Given the description of an element on the screen output the (x, y) to click on. 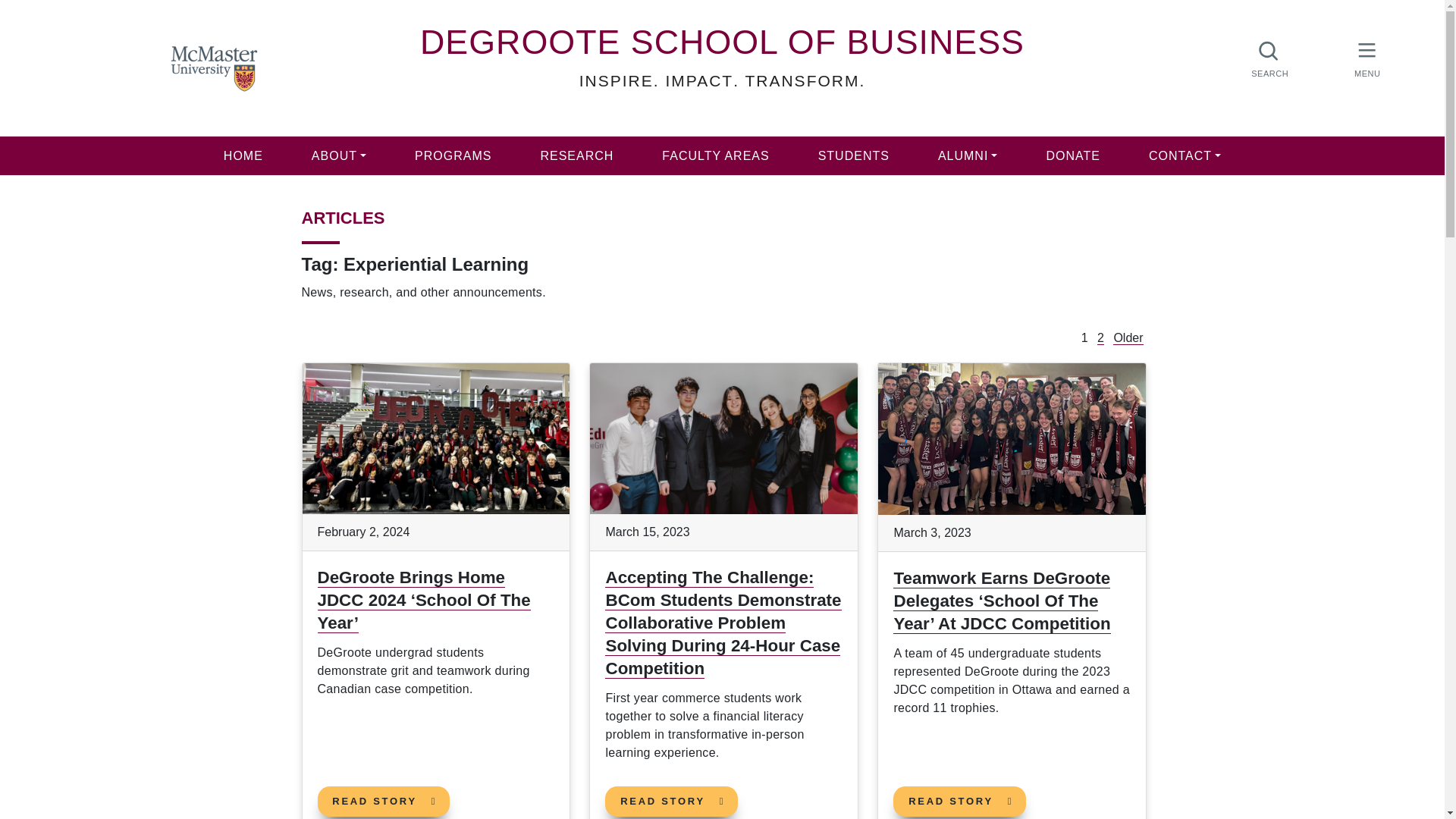
HOME (242, 155)
PROGRAMS (452, 155)
CONTACT (1184, 155)
FACULTY AREAS (715, 155)
STUDENTS (853, 155)
RESEARCH (1100, 337)
DEGROOTE SCHOOL OF BUSINESS (576, 155)
DONATE (722, 41)
ALUMNI (1073, 155)
ABOUT (968, 155)
